Given the description of an element on the screen output the (x, y) to click on. 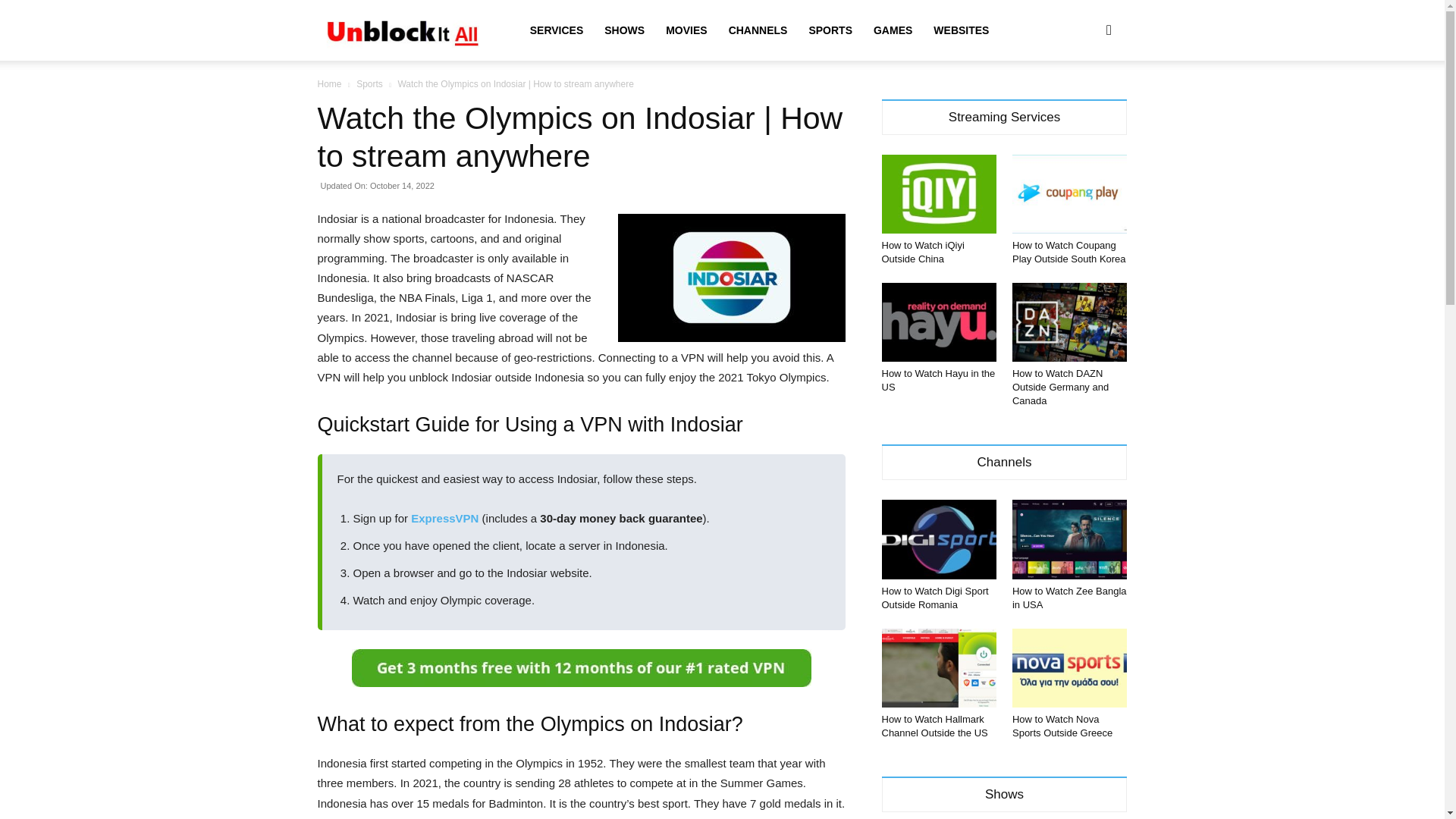
How to Watch Zee Bangla in USA (1068, 597)
How to Watch Hayu in the US (937, 321)
CHANNELS (757, 30)
How to Watch Hayu in the US (937, 380)
How to Watch iQiyi Outside China (937, 193)
Sports (369, 83)
How to Watch iQiyi Outside China (921, 251)
How to Watch DAZN Outside Germany and Canada (1068, 321)
How to Watch DAZN Outside Germany and Canada (1059, 386)
How to Watch Hallmark Channel Outside the US (933, 725)
How to Watch Coupang Play Outside South Korea (1068, 251)
How to Watch DAZN Outside Germany and Canada (1059, 386)
Home (328, 83)
How to Watch iQiyi Outside China (921, 251)
View all posts in Sports (369, 83)
